Given the description of an element on the screen output the (x, y) to click on. 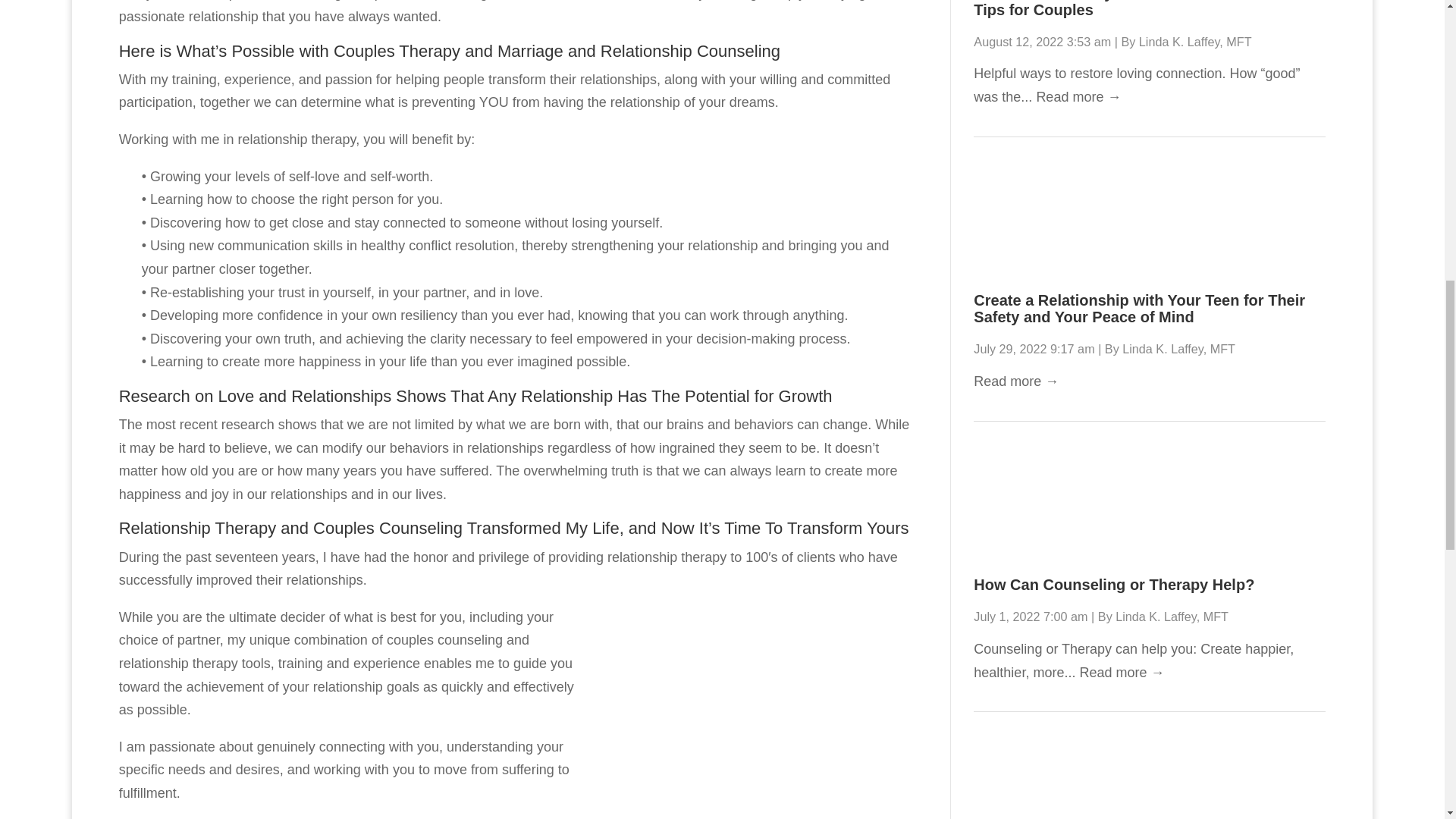
Linda K. Laffey, MFT (1195, 41)
How Can Counseling or Therapy Help? (1113, 584)
Linda K. Laffey, MFT (1171, 616)
Linda K. Laffey, MFT (1178, 348)
